Given the description of an element on the screen output the (x, y) to click on. 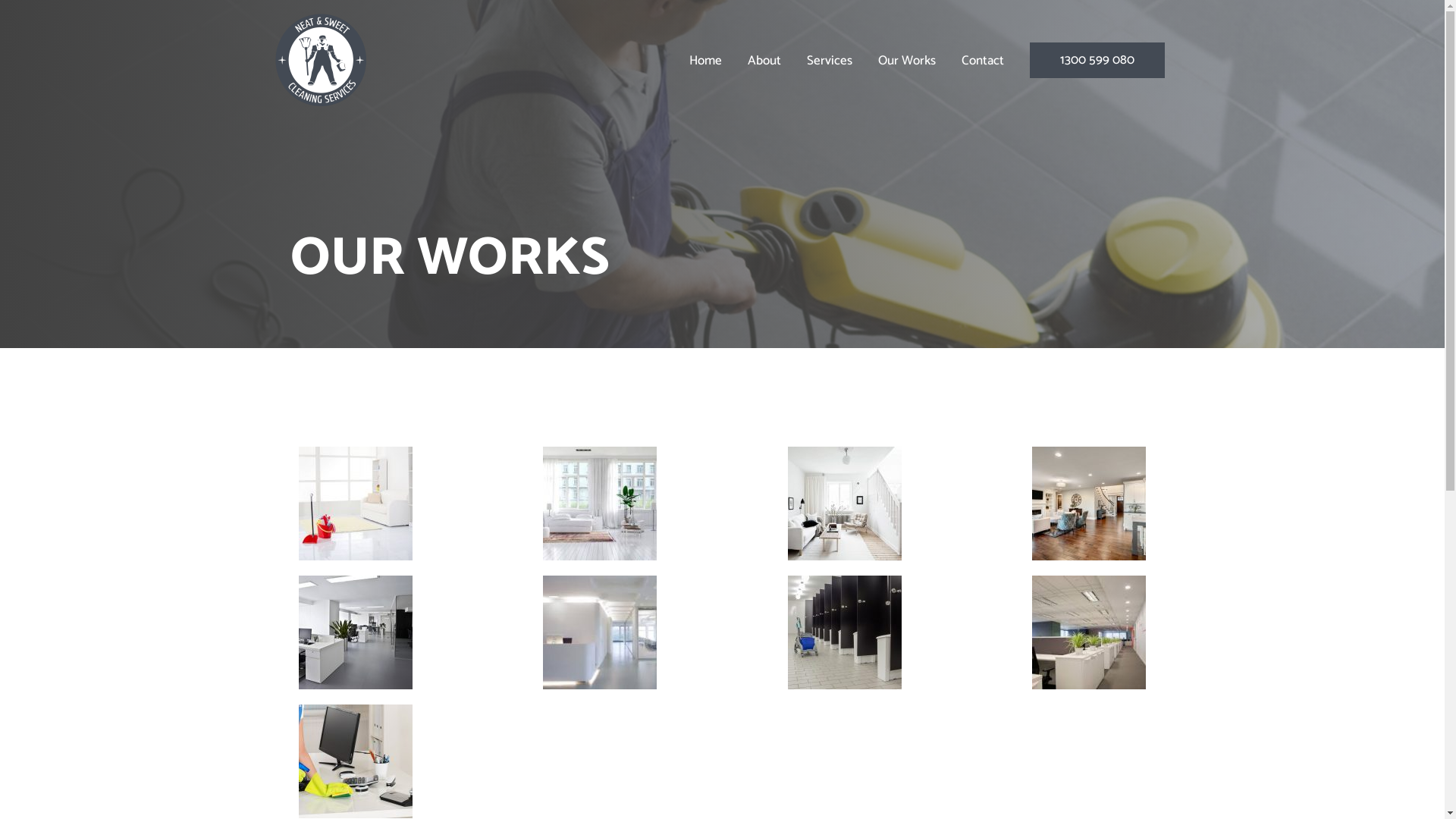
Our Works Element type: text (905, 60)
Home Element type: text (705, 60)
1300 599 080 Element type: text (1096, 60)
Services Element type: text (828, 60)
Contact Element type: text (981, 60)
About Element type: text (763, 60)
